Given the description of an element on the screen output the (x, y) to click on. 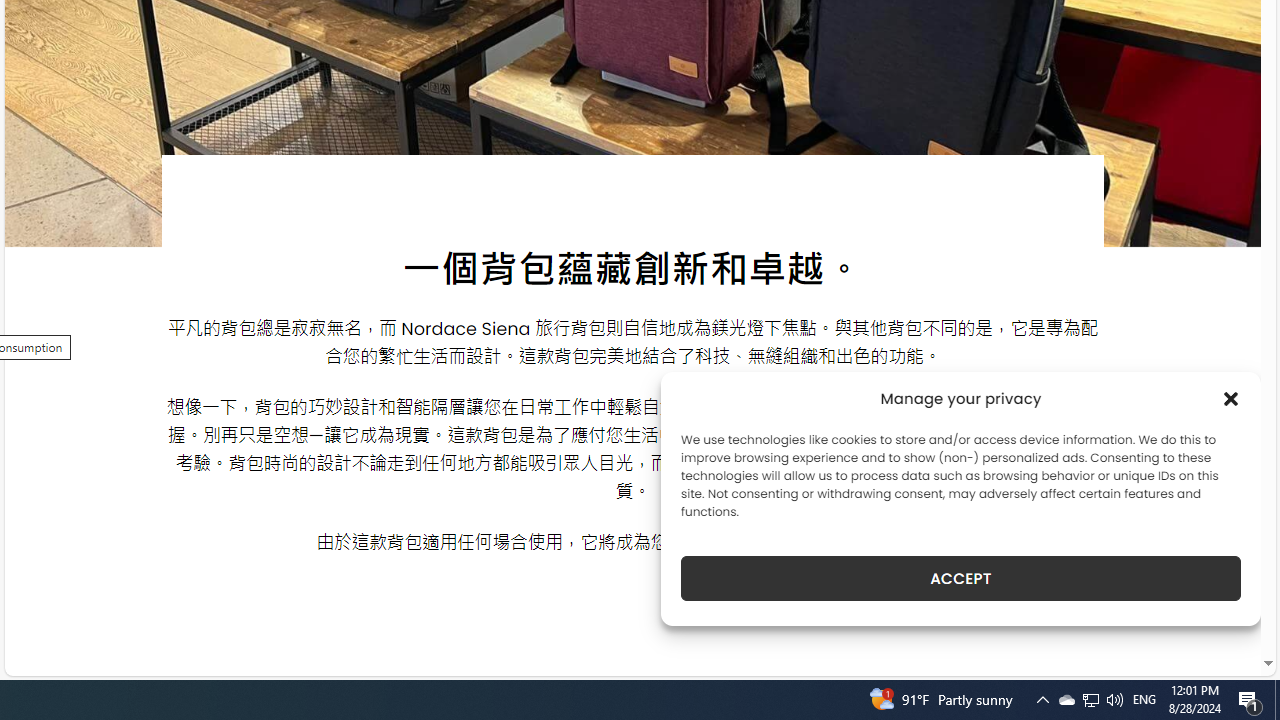
Class: cmplz-close (1231, 398)
ACCEPT (960, 578)
